Given the description of an element on the screen output the (x, y) to click on. 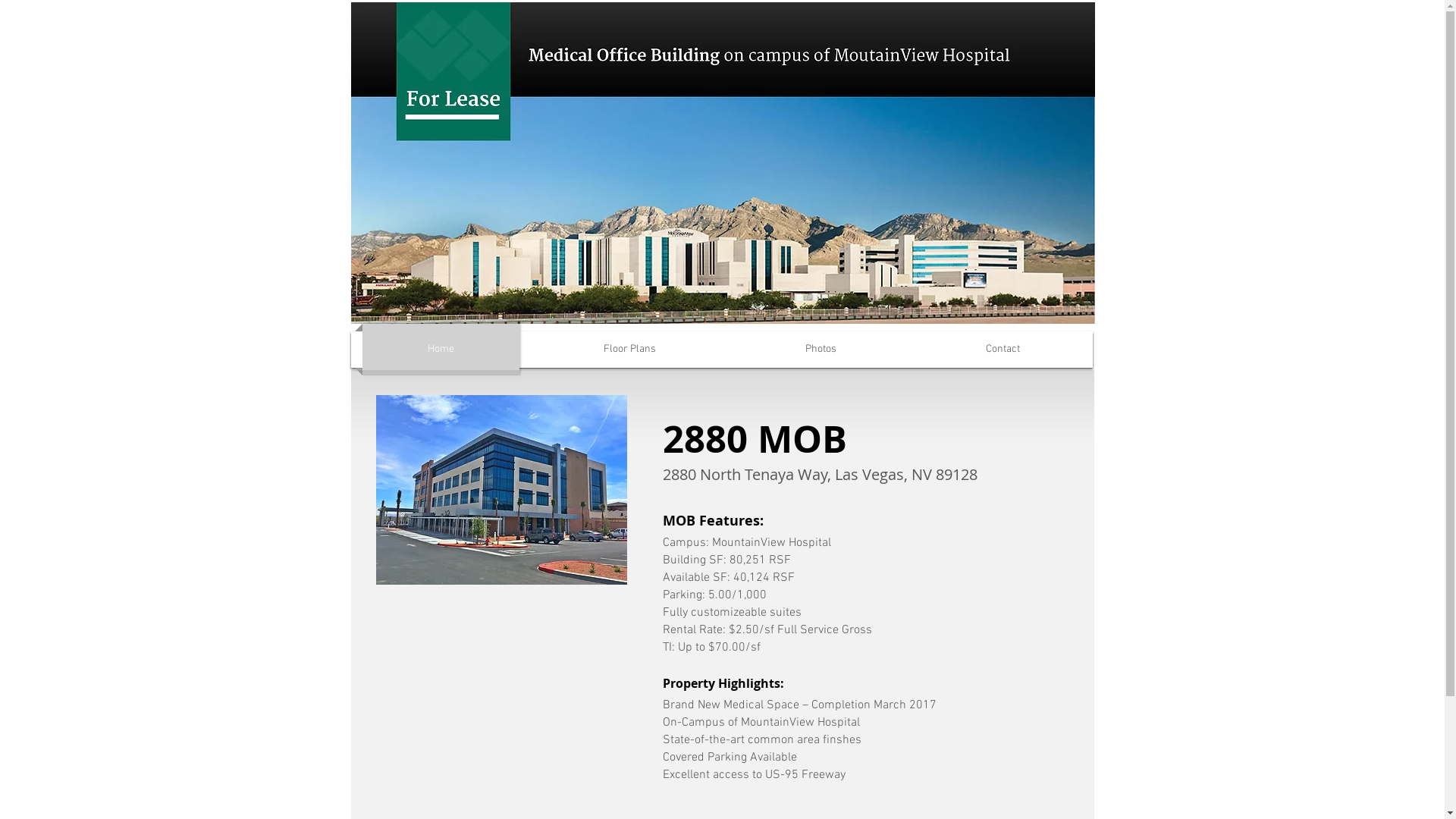
Photos Element type: text (820, 349)
Floor Plans Element type: text (629, 349)
Contact Element type: text (1002, 349)
Home Element type: text (440, 349)
